Given the description of an element on the screen output the (x, y) to click on. 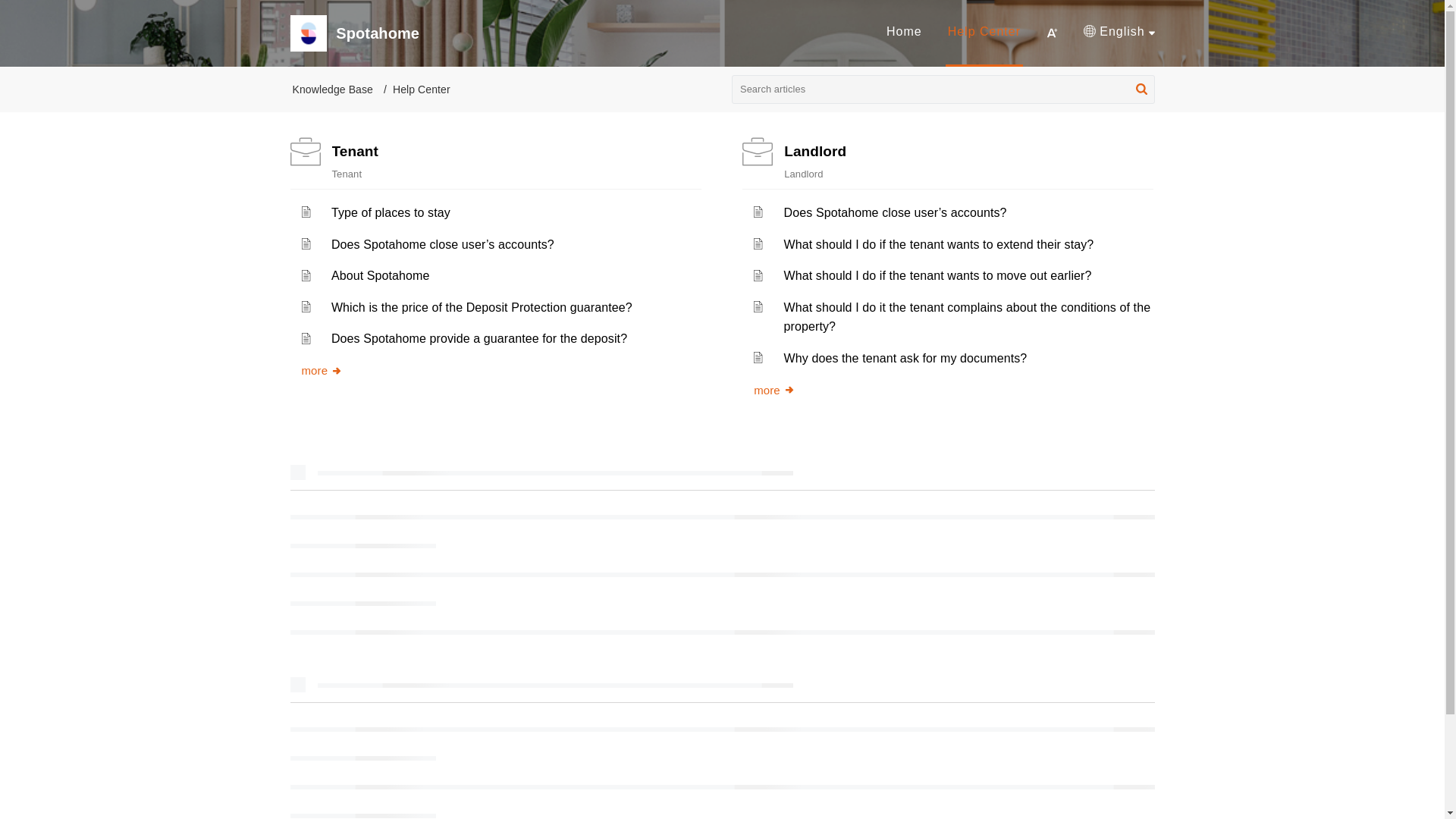
Which is the price of the Deposit Protection guarantee? (481, 307)
What should I do if the tenant  wants to extend their stay? (939, 244)
What should I do if the tenant wants to move out earlier? (938, 275)
Knowledge Base (332, 89)
What should I do if the tenant wants to move out earlier? (938, 275)
Does Spotahome provide a guarantee for the deposit? (479, 338)
About Spotahome (380, 275)
more (774, 390)
Why does the tenant ask for my documents? (905, 358)
